Given the description of an element on the screen output the (x, y) to click on. 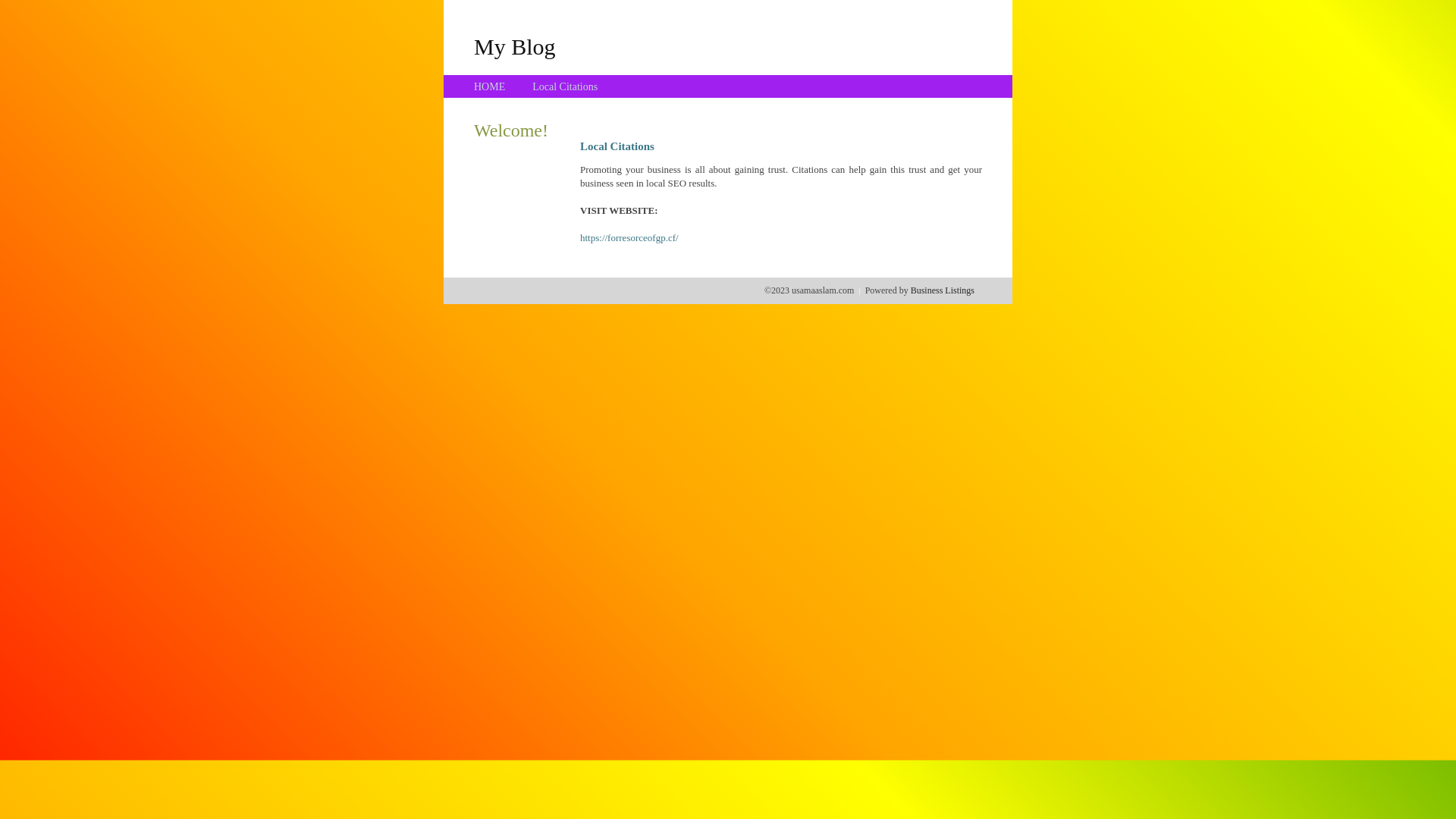
Business Listings Element type: text (942, 290)
HOME Element type: text (489, 86)
Local Citations Element type: text (564, 86)
https://forresorceofgp.cf/ Element type: text (629, 237)
My Blog Element type: text (514, 46)
